Given the description of an element on the screen output the (x, y) to click on. 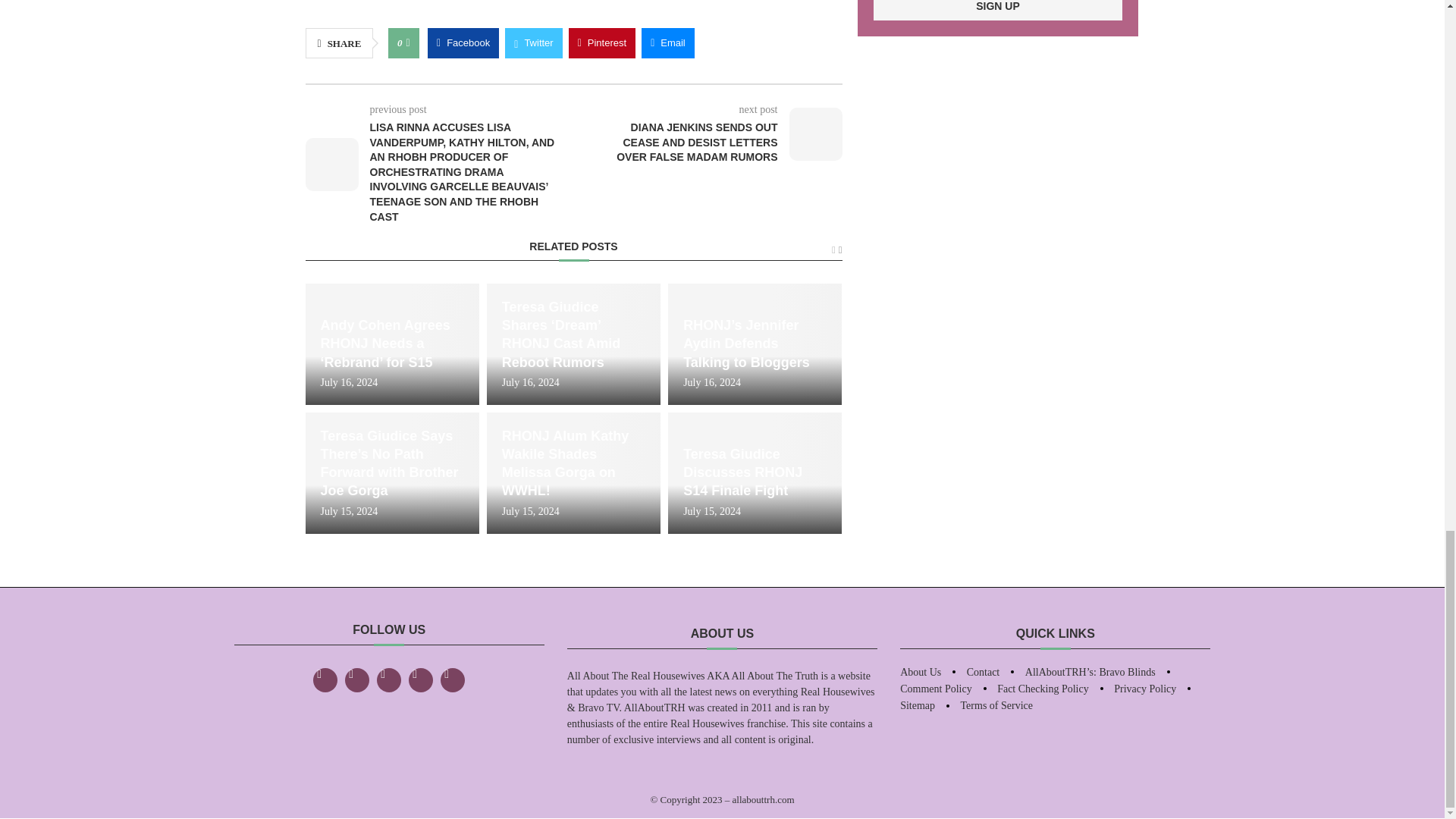
Sign Up (997, 10)
